Given the description of an element on the screen output the (x, y) to click on. 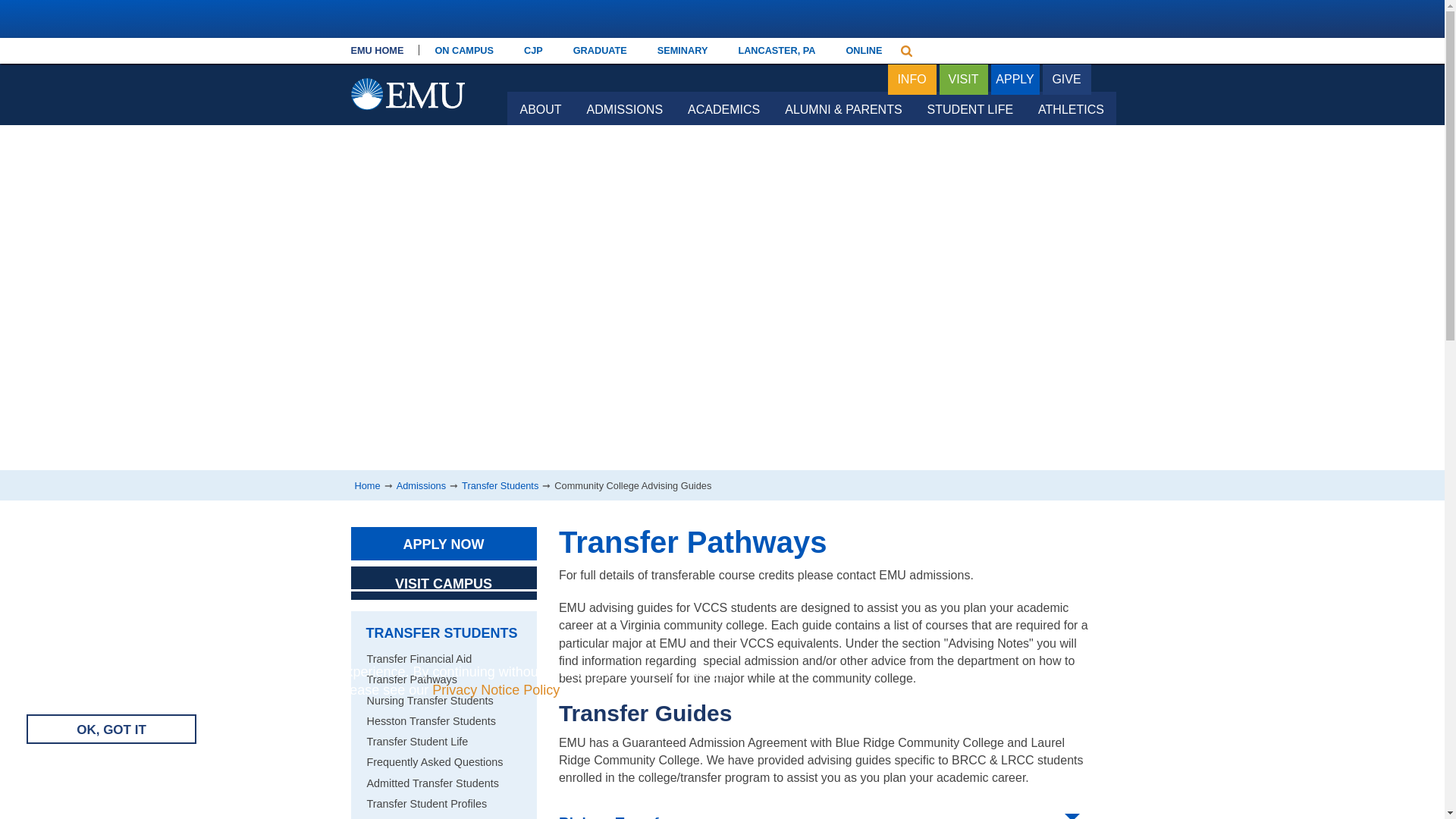
Grad Studies (599, 50)
STUDENT LIFE (970, 108)
Seminary (682, 50)
Skip the navigation (512, 54)
Visit (963, 79)
EMU in Virginia (407, 53)
Lancaster (775, 50)
ABOUT (539, 108)
ACADEMICS (724, 108)
Skip Navigation (512, 54)
